Given the description of an element on the screen output the (x, y) to click on. 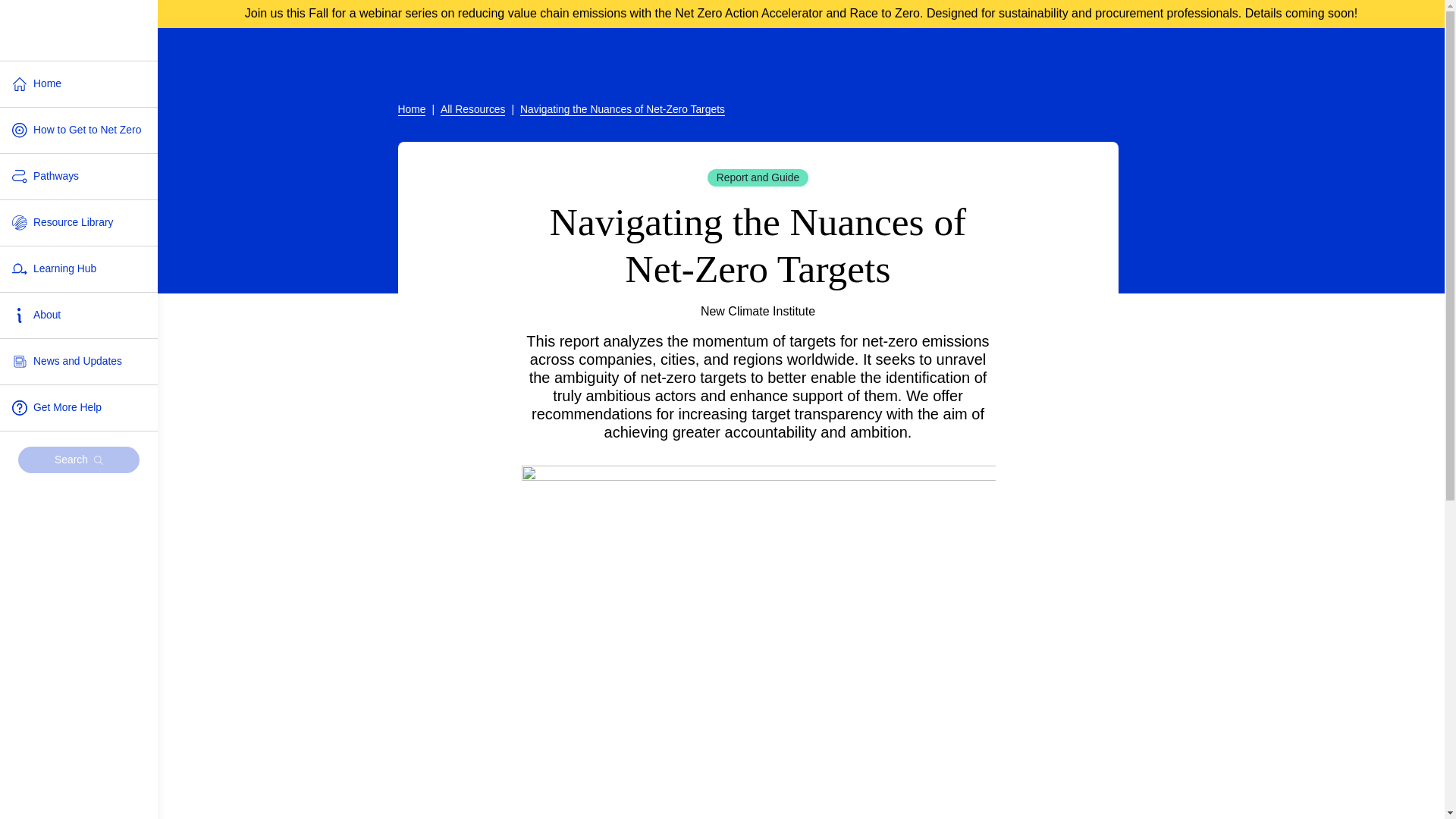
Home (78, 84)
Navigating the Nuances of Net-Zero Targets (622, 109)
Learning Hub (78, 268)
Resource Library (78, 222)
Search (78, 459)
How to Get to Net Zero (78, 130)
Home (411, 109)
Get More Help (78, 407)
News and Updates (78, 361)
Pathways (78, 176)
